Given the description of an element on the screen output the (x, y) to click on. 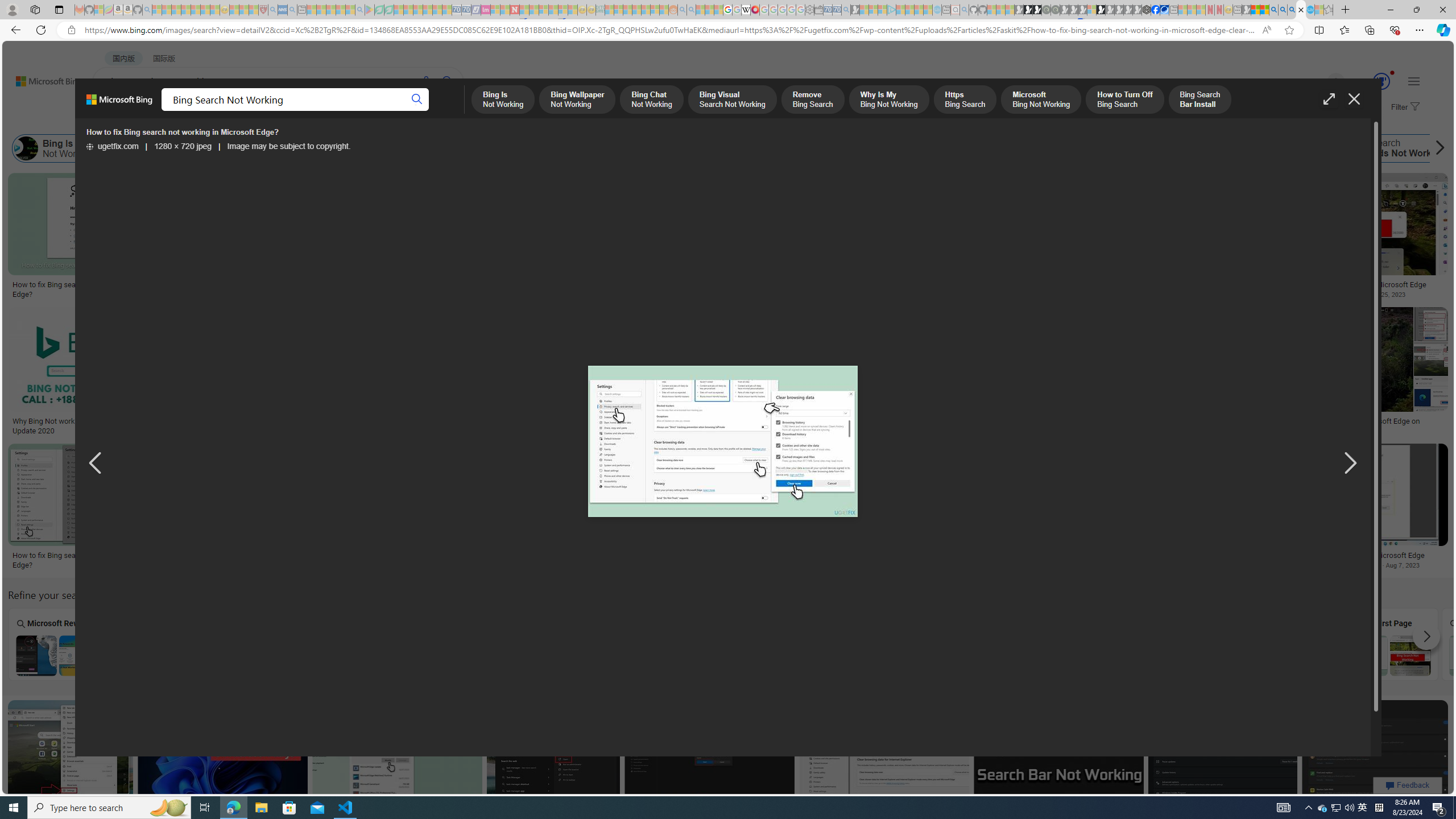
Home | Sky Blue Bikes - Sky Blue Bikes - Sleeping (936, 9)
Fix Bing search not working in Microsoft Edge (1358, 555)
Bong Plush Toy (809, 246)
Wallet - Sleeping (818, 9)
ACADEMIC (360, 111)
Scroll right (1436, 148)
2:22 (209, 183)
Bing Search the Web for Image Not Working Web For (671, 643)
Bing Search Box Not Working (262, 655)
IMAGES (205, 111)
